Given the description of an element on the screen output the (x, y) to click on. 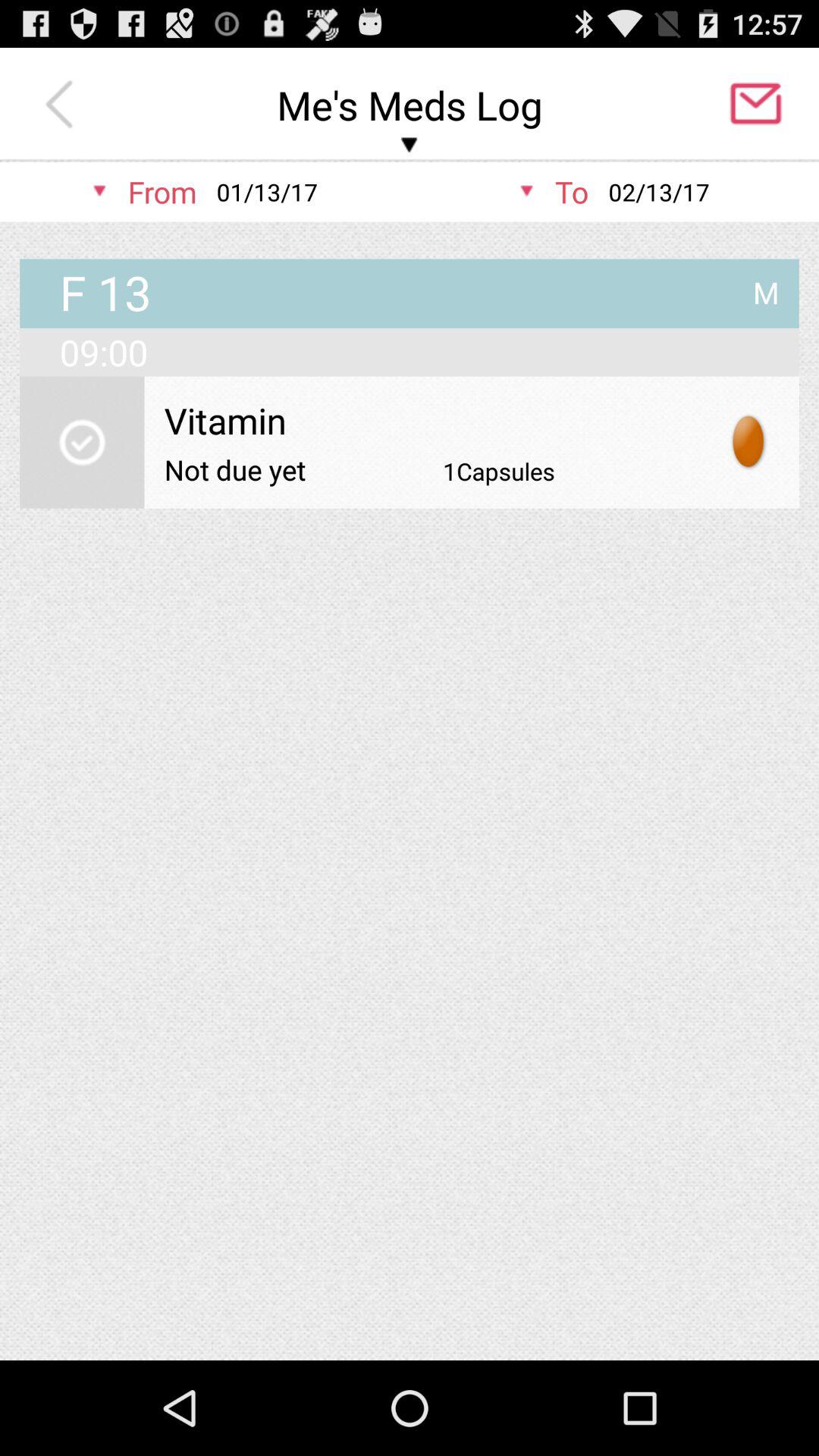
turn on 1capsules (499, 471)
